Given the description of an element on the screen output the (x, y) to click on. 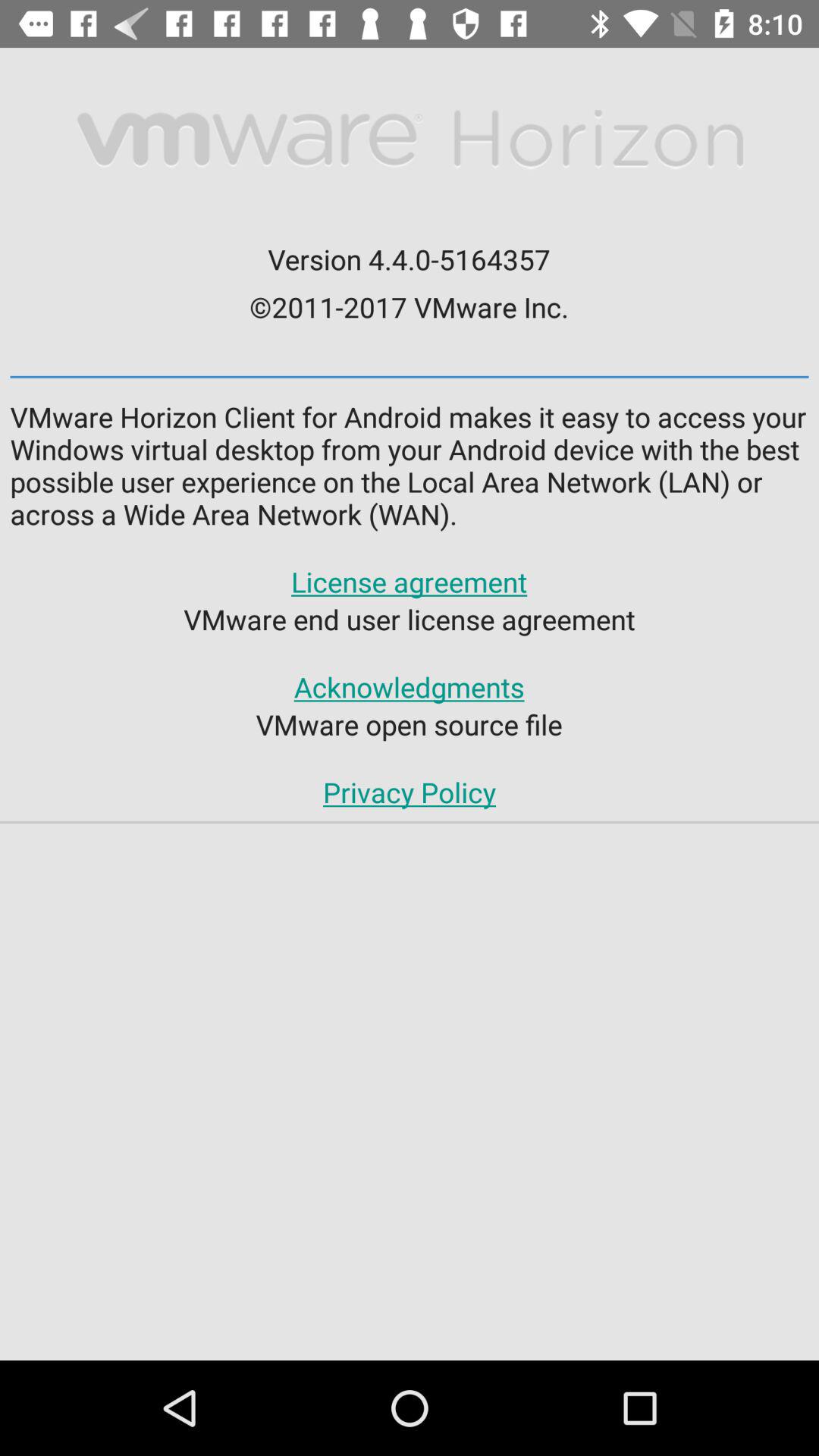
select acknowledgments app (409, 686)
